Given the description of an element on the screen output the (x, y) to click on. 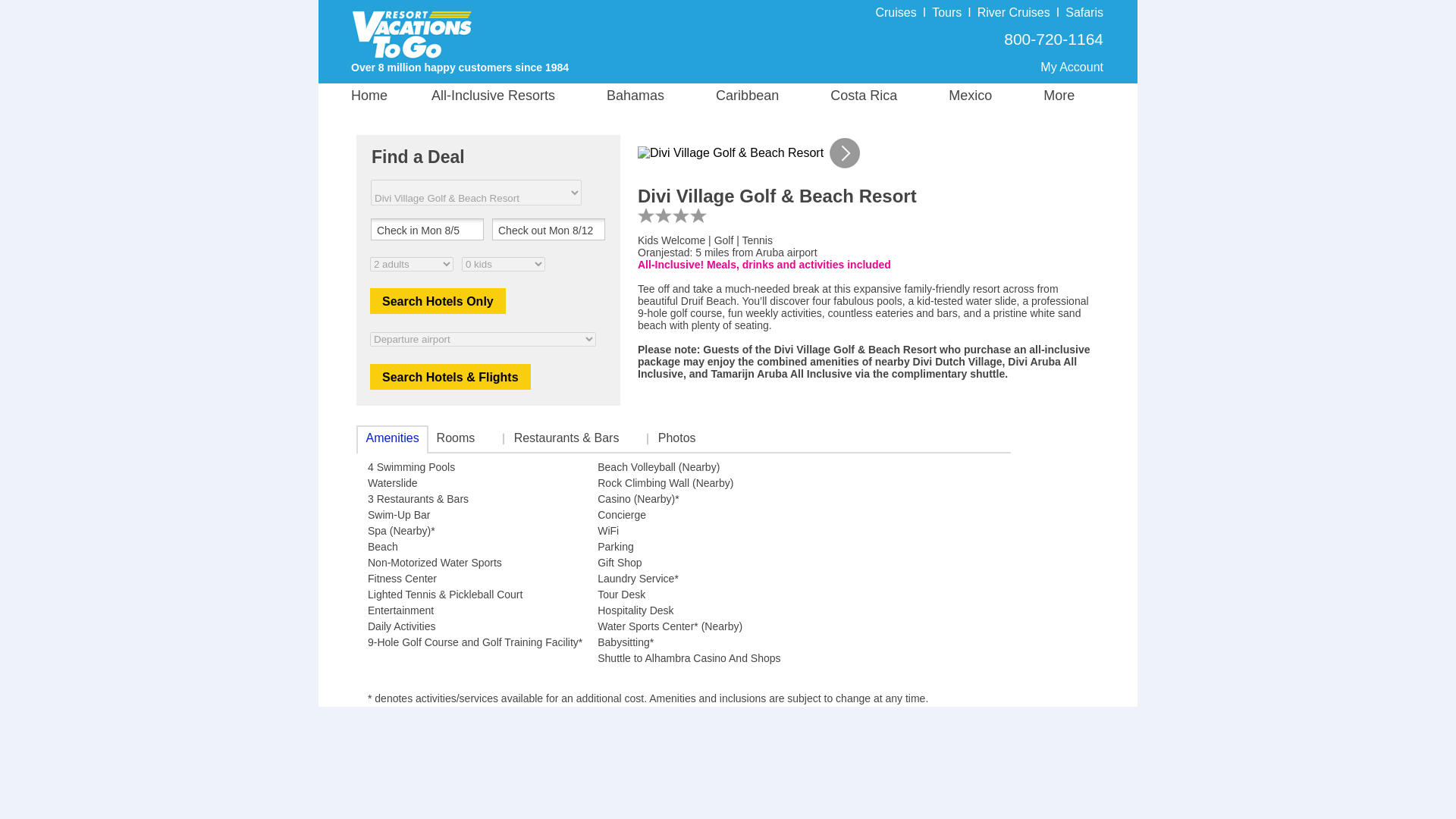
River Cruises (1012, 11)
  Bahamas (651, 95)
  Caribbean (763, 95)
Home (389, 95)
  Costa Rica (880, 95)
  Mexico (986, 95)
Cruises (895, 11)
All-Inclusive Resorts (512, 95)
My Account (1072, 66)
Tours (945, 11)
Safaris (1084, 11)
